Given the description of an element on the screen output the (x, y) to click on. 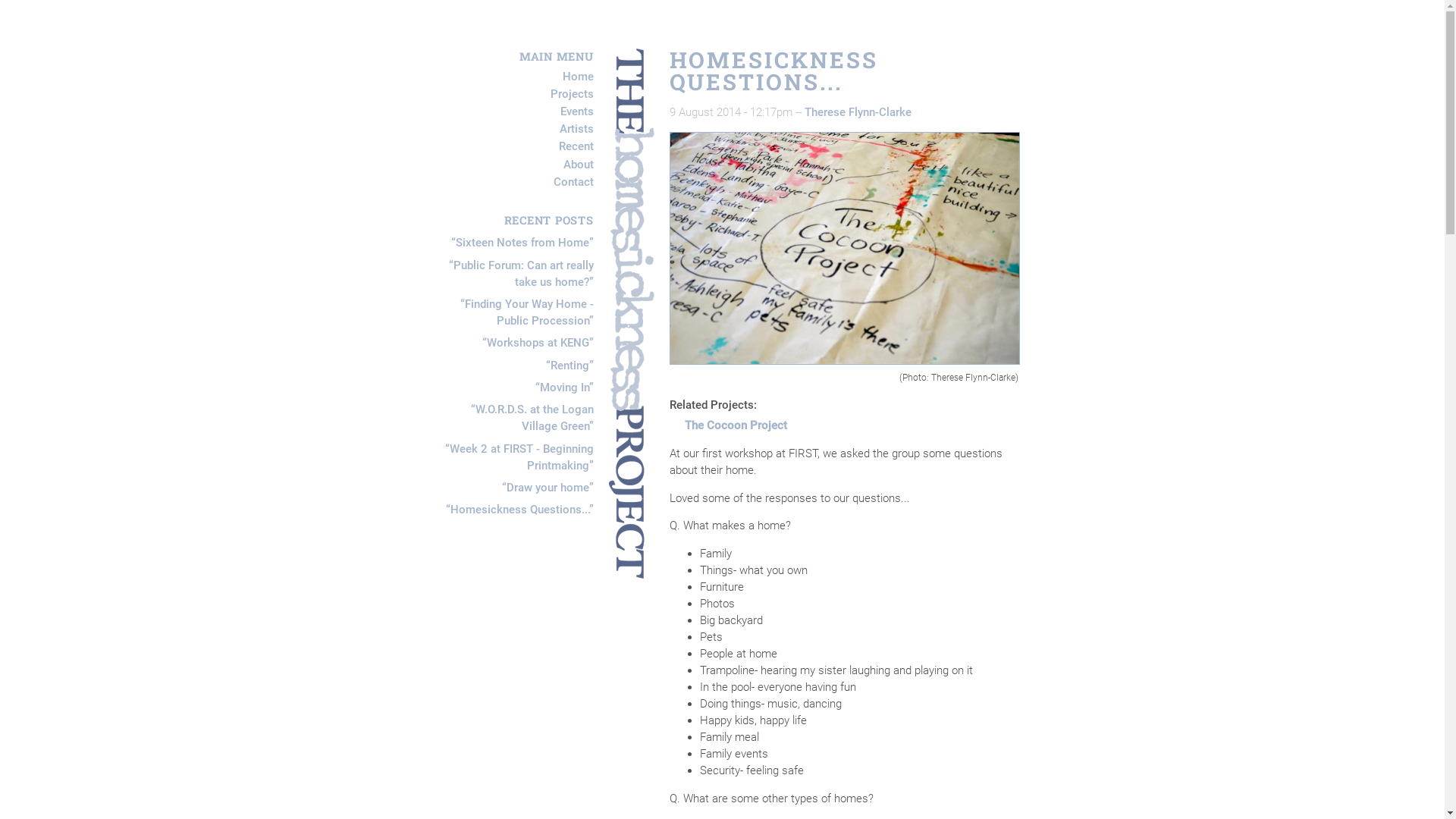
Therese Flynn-Clarke Element type: text (856, 112)
About Element type: text (577, 164)
Artists Element type: text (576, 128)
(Photo: Therese Flynn-Clarke) Element type: hover (843, 247)
Events Element type: text (576, 111)
Home Element type: text (577, 76)
Moving In Element type: text (564, 387)
Workshops at KENG Element type: text (537, 342)
Skip to main content Element type: text (52, 48)
Renting Element type: text (569, 365)
Public Forum: Can art really take us home? Element type: text (520, 273)
Homesickness Questions... Element type: text (519, 509)
The Cocoon Project Element type: text (735, 425)
Contact Element type: text (573, 181)
Recent Element type: text (575, 146)
Draw your home Element type: text (547, 487)
Finding Your Way Home - Public Procession Element type: text (526, 312)
W.O.R.D.S. at the Logan Village Green Element type: text (531, 417)
Sixteen Notes from Home Element type: text (521, 242)
Projects Element type: text (571, 93)
Week 2 at FIRST - Beginning Printmaking Element type: text (518, 457)
